Given the description of an element on the screen output the (x, y) to click on. 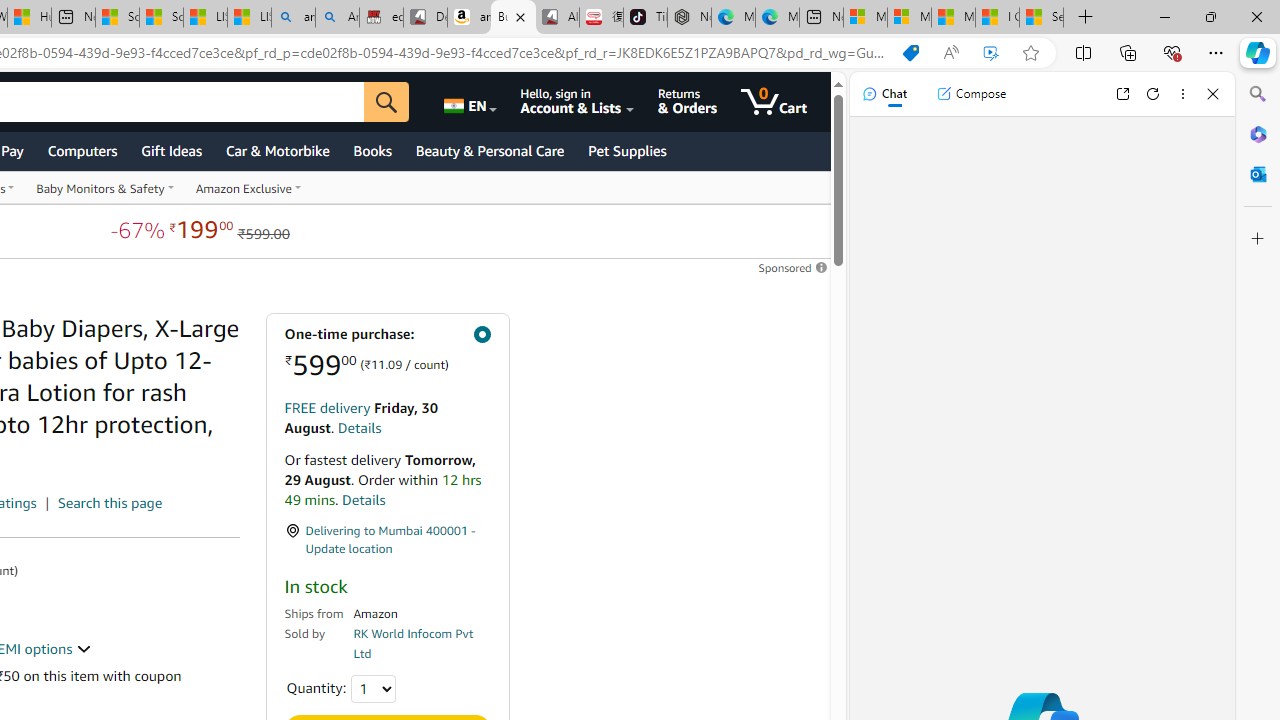
amazon - Search (292, 17)
Enhance video (991, 53)
Outlook (1258, 174)
Microsoft 365 (1258, 133)
You have the best price! (910, 53)
Customize (1258, 239)
